Given the description of an element on the screen output the (x, y) to click on. 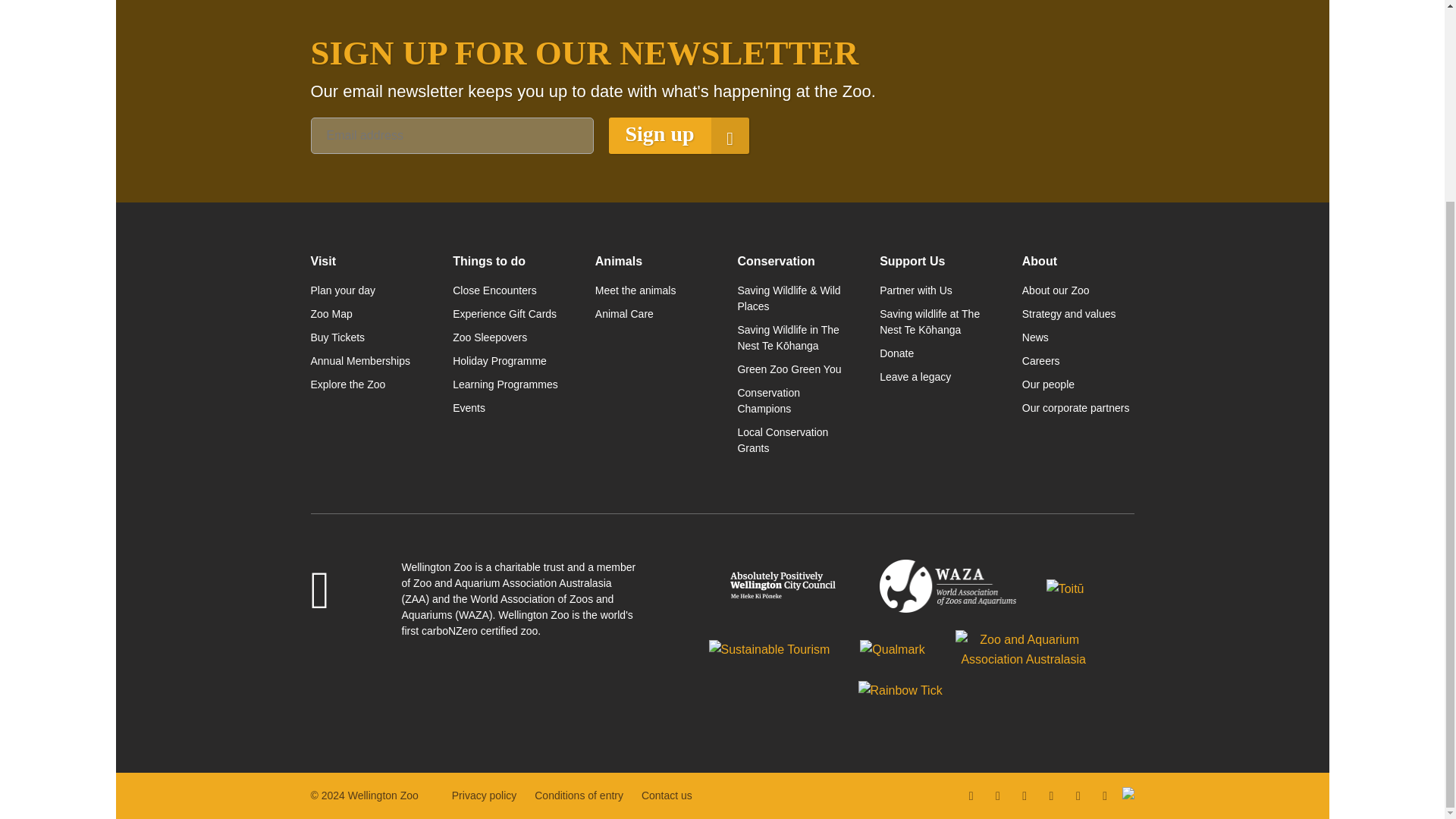
Green Zoo Green You (792, 369)
Things to do (508, 261)
Learning Programmes (508, 384)
About (1078, 261)
Conservation Champions (792, 400)
News (1078, 337)
Zoo Sleepovers (508, 337)
Leave a legacy (935, 376)
Zoo Map (367, 314)
Conservation (792, 261)
